Given the description of an element on the screen output the (x, y) to click on. 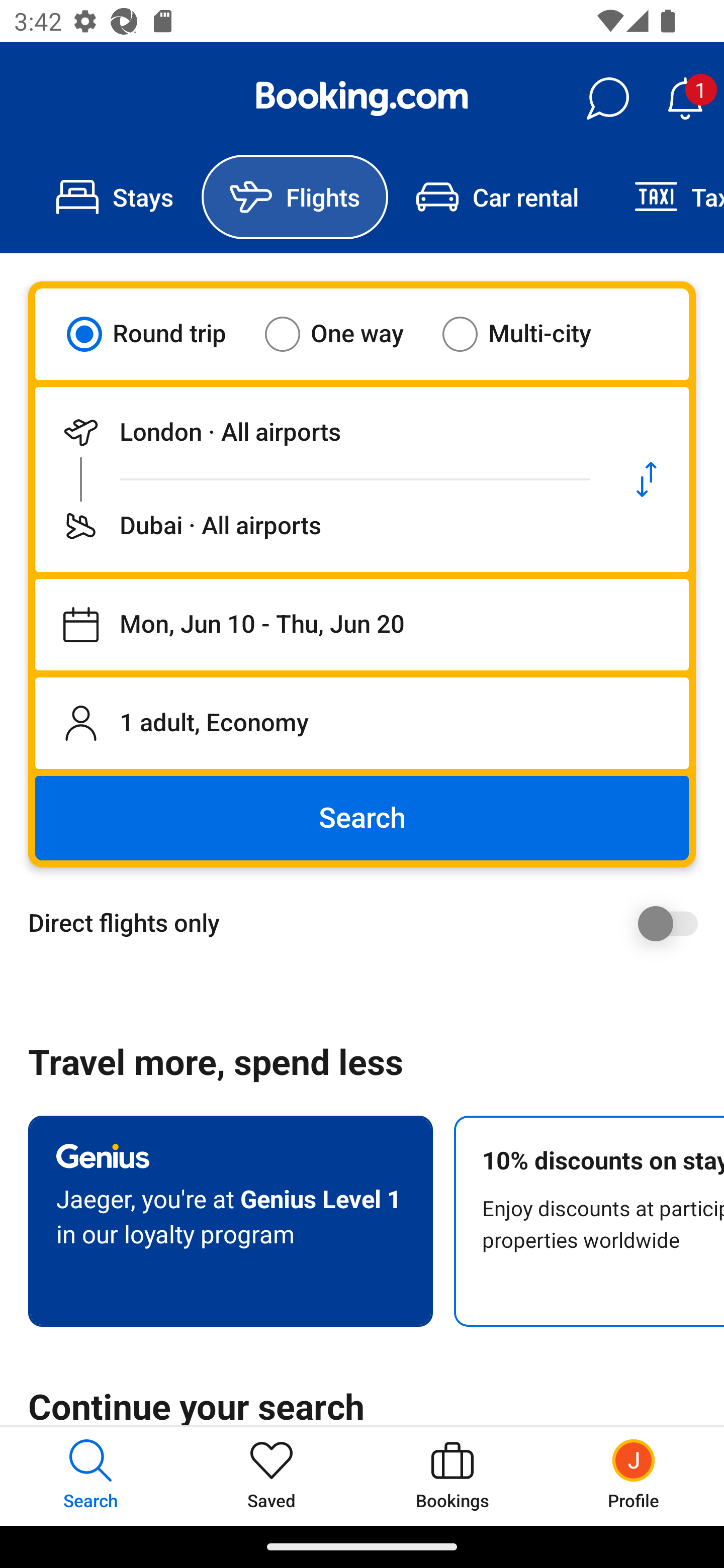
Messages (607, 98)
Notifications (685, 98)
Stays (114, 197)
Flights (294, 197)
Car rental (497, 197)
Taxi (665, 197)
One way (346, 333)
Multi-city (528, 333)
Departing from London · All airports (319, 432)
Swap departure location and destination (646, 479)
Flying to Dubai · All airports (319, 525)
Departing on Mon, Jun 10, returning on Thu, Jun 20 (361, 624)
1 adult, Economy (361, 722)
Search (361, 818)
Direct flights only (369, 923)
Saved (271, 1475)
Bookings (452, 1475)
Profile (633, 1475)
